Given the description of an element on the screen output the (x, y) to click on. 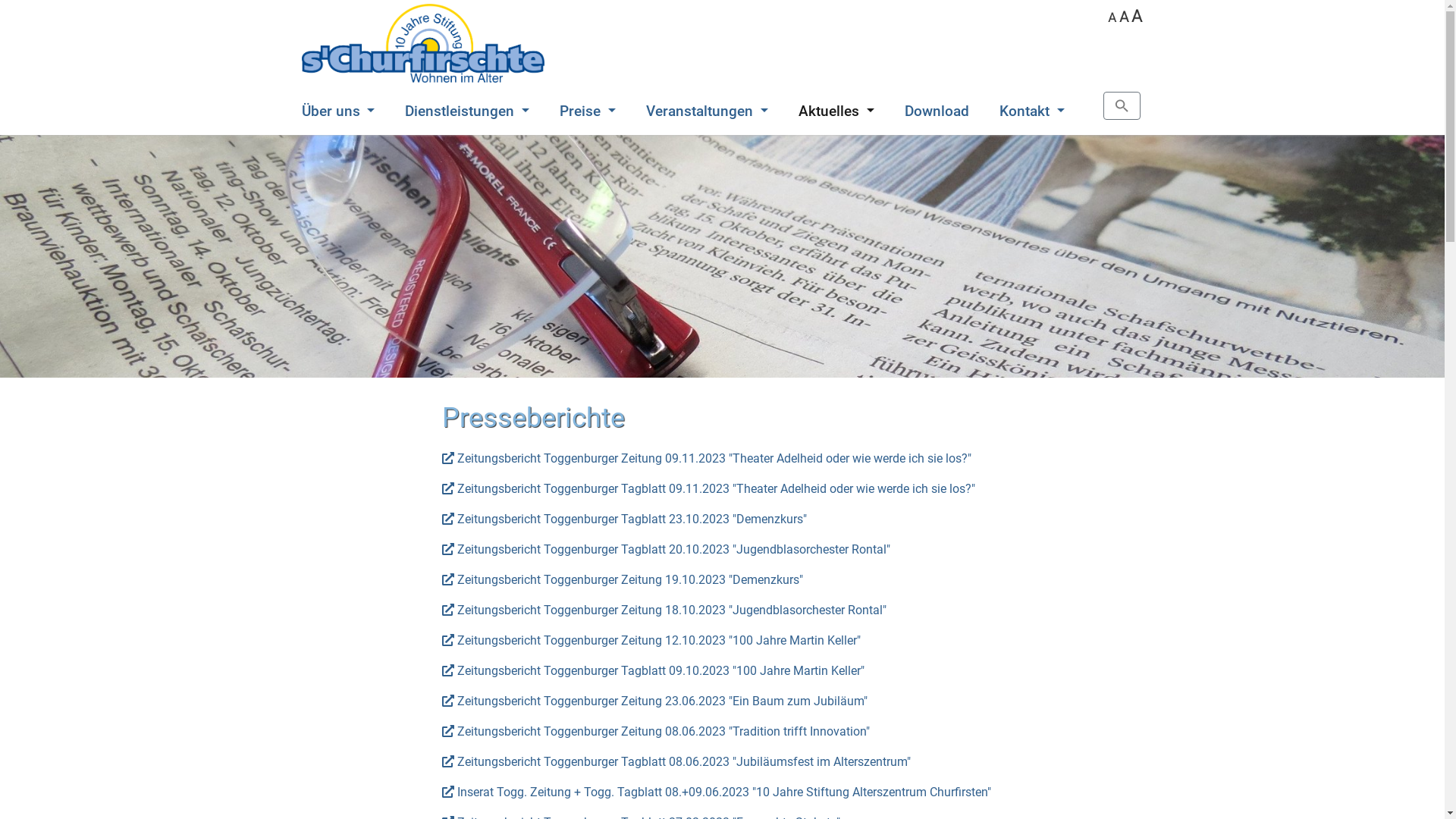
Kontakt Element type: text (1031, 111)
Download Element type: text (936, 111)
Aktuelles Element type: text (836, 111)
Zeitungsbericht Toggenburger Zeitung 19.10.2023 "Demenzkurs" Element type: text (622, 579)
Dienstleistungen Element type: text (466, 111)
Preise Element type: text (587, 111)
Veranstaltungen Element type: text (706, 111)
